Given the description of an element on the screen output the (x, y) to click on. 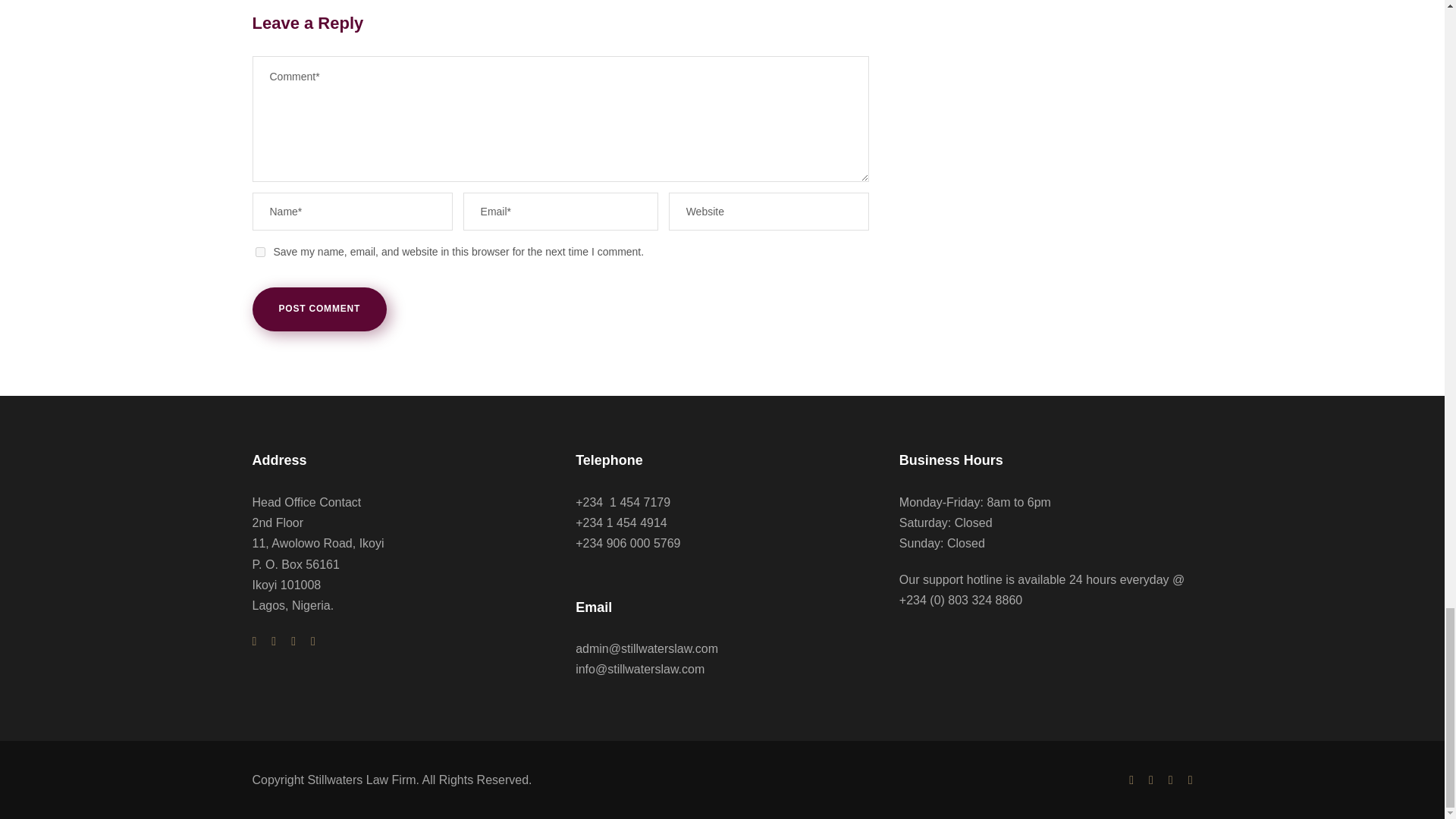
Post Comment (319, 309)
yes (259, 252)
Post Comment (319, 309)
